Given the description of an element on the screen output the (x, y) to click on. 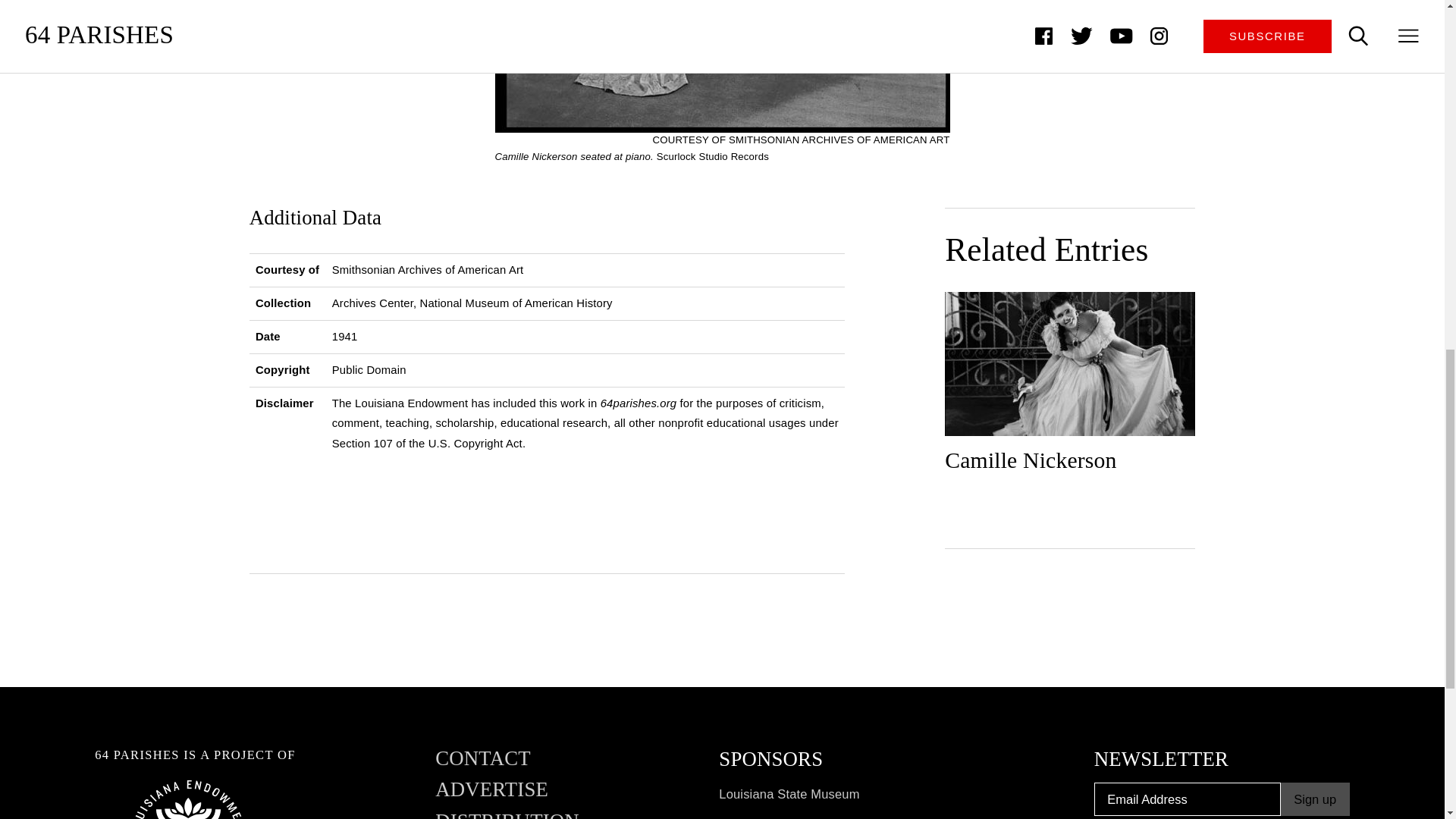
ADVERTISE (491, 795)
CONTACT (483, 764)
Sign up (1315, 799)
Camille Nickerson (1069, 388)
